Given the description of an element on the screen output the (x, y) to click on. 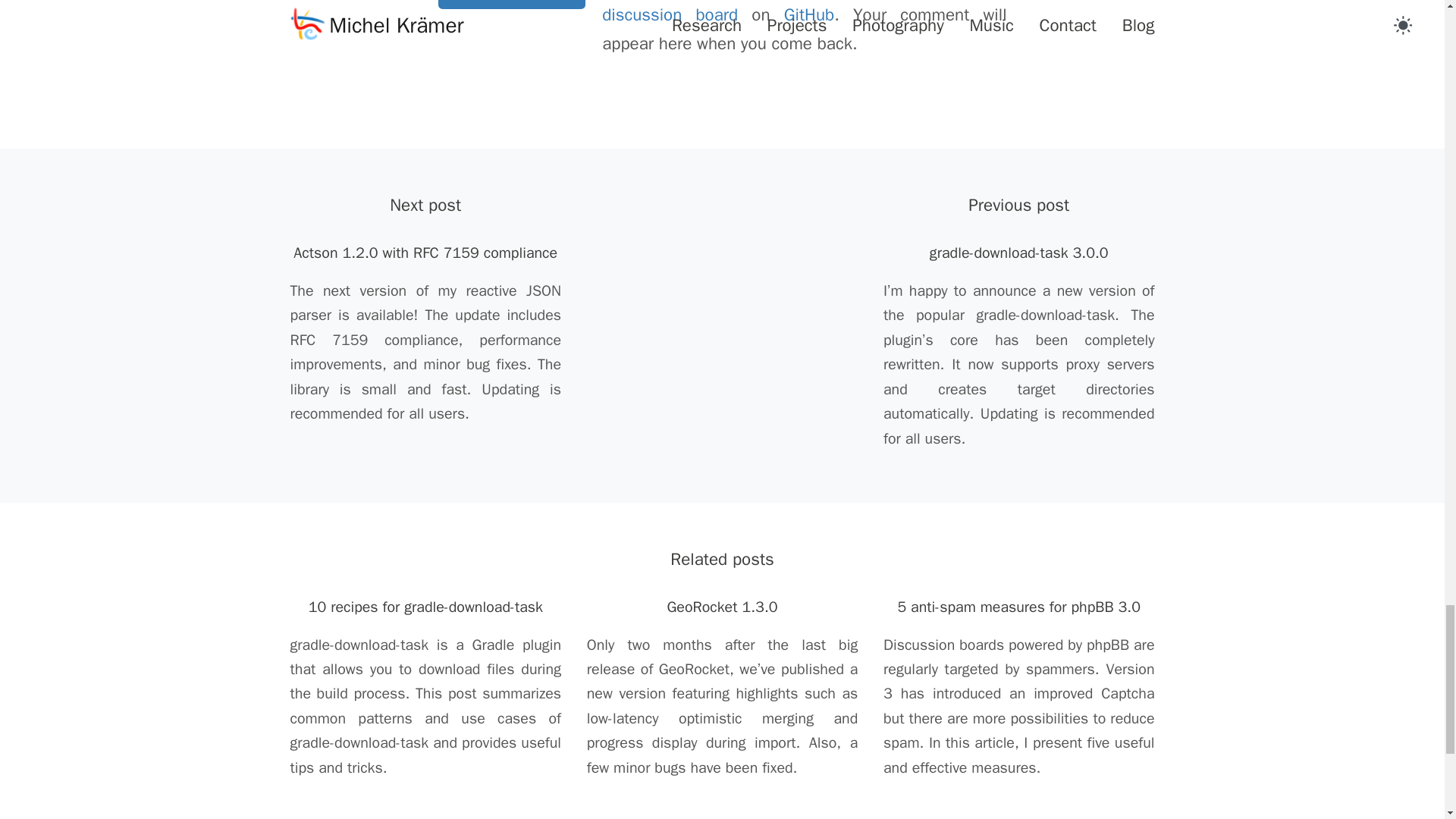
GitHub (809, 14)
discussion board (670, 14)
Post a comment (511, 4)
Next post (425, 205)
